Given the description of an element on the screen output the (x, y) to click on. 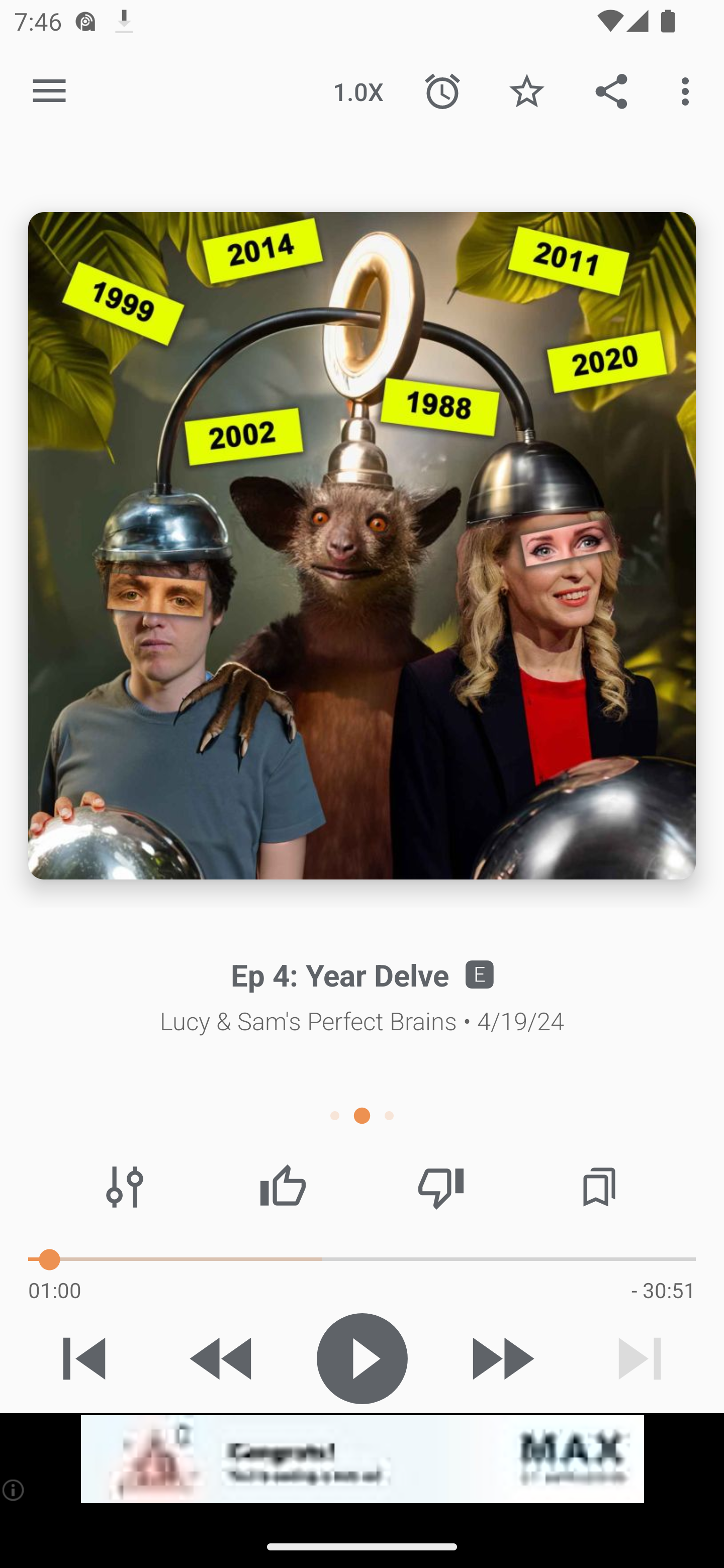
Open navigation sidebar (49, 91)
1.0X (357, 90)
Sleep Timer (442, 90)
Favorite (526, 90)
Share (611, 90)
More options (688, 90)
Episode description (361, 545)
Audio effects (124, 1186)
Thumbs up (283, 1186)
Thumbs down (440, 1186)
Chapters / Bookmarks (598, 1186)
- 30:51 (663, 1289)
Previous track (84, 1358)
Skip 15s backward (222, 1358)
Play / Pause (362, 1358)
Skip 30s forward (500, 1358)
Next track (639, 1358)
app-monetization (362, 1459)
(i) (14, 1489)
